Given the description of an element on the screen output the (x, y) to click on. 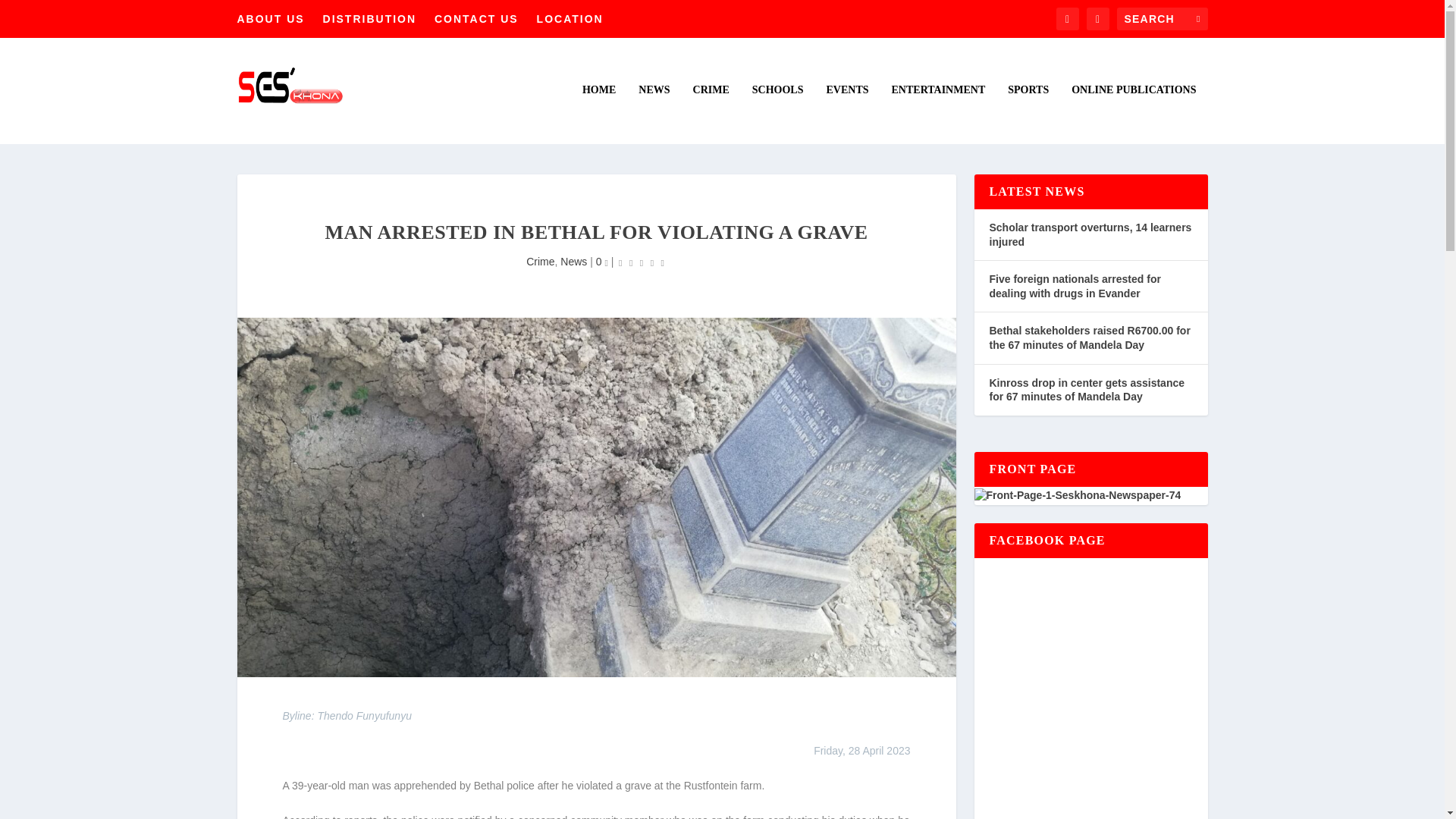
CONTACT US (475, 18)
ONLINE PUBLICATIONS (1133, 114)
Rating: 0.00 (640, 262)
Crime (539, 261)
ENTERTAINMENT (938, 114)
ABOUT US (269, 18)
LOCATION (570, 18)
DISTRIBUTION (369, 18)
0 (601, 261)
Search for: (1161, 18)
News (573, 261)
